Given the description of an element on the screen output the (x, y) to click on. 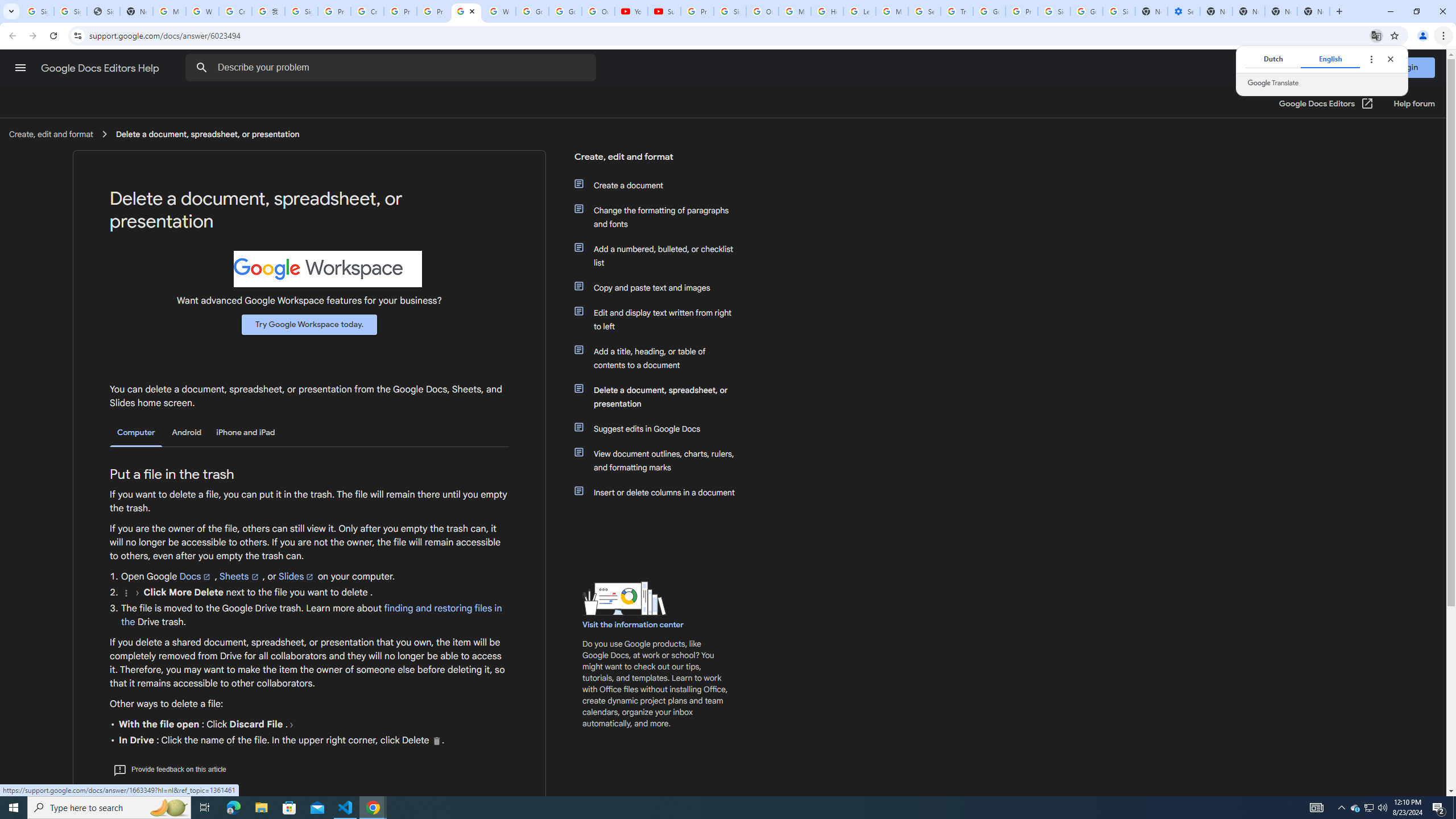
Settings - Performance (1183, 11)
Sign In - USA TODAY (103, 11)
Trusted Information and Content - Google Safety Center (957, 11)
Google Docs Editors (Opens in new window) (1326, 103)
New Tab (1313, 11)
Search our Doodle Library Collection - Google Doodles (924, 11)
More (125, 592)
Create, edit and format (656, 160)
